Given the description of an element on the screen output the (x, y) to click on. 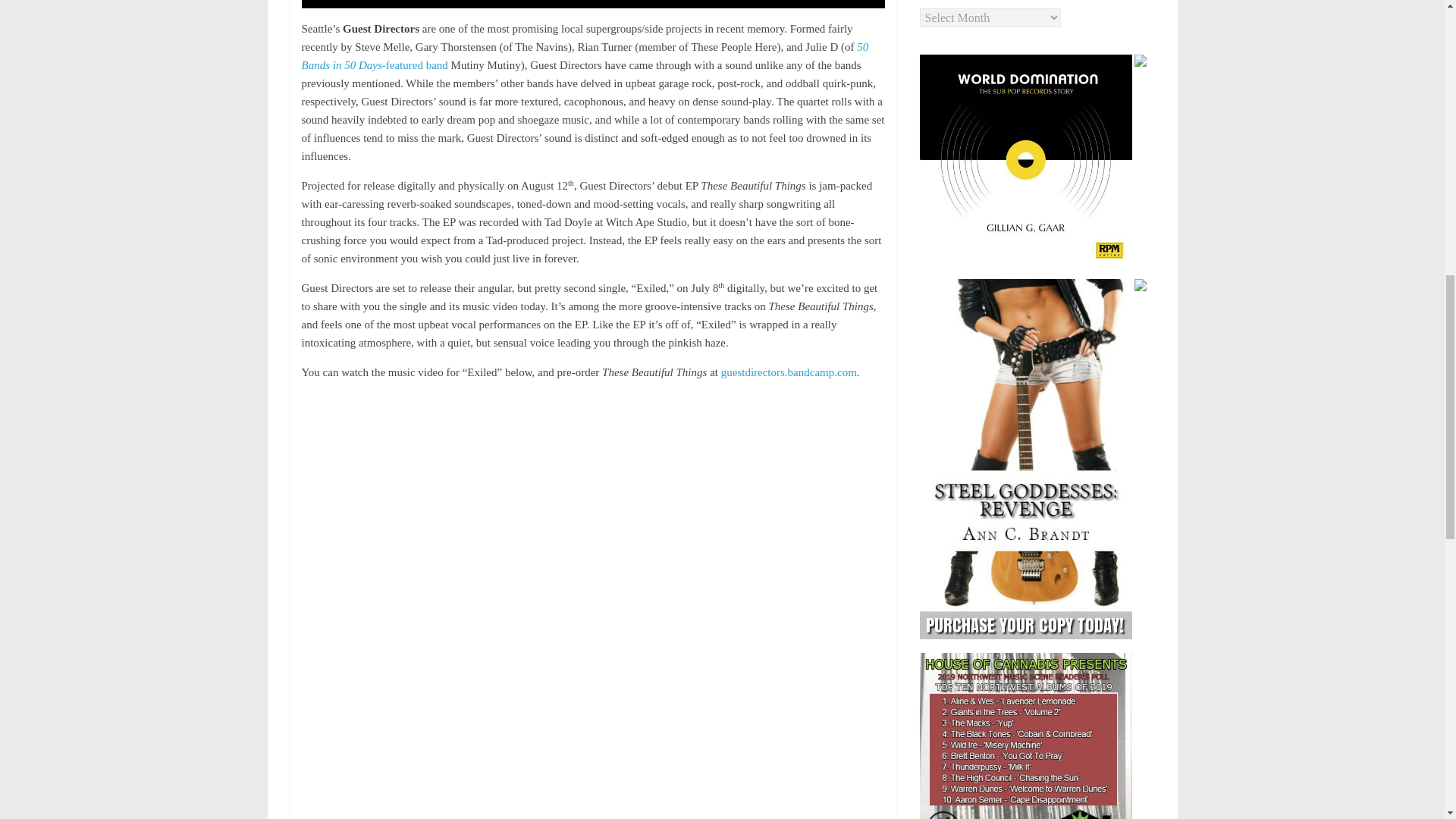
guestdirectors.bandcamp.com (788, 372)
50 Bands in 50 Days-featured band (585, 55)
